Given the description of an element on the screen output the (x, y) to click on. 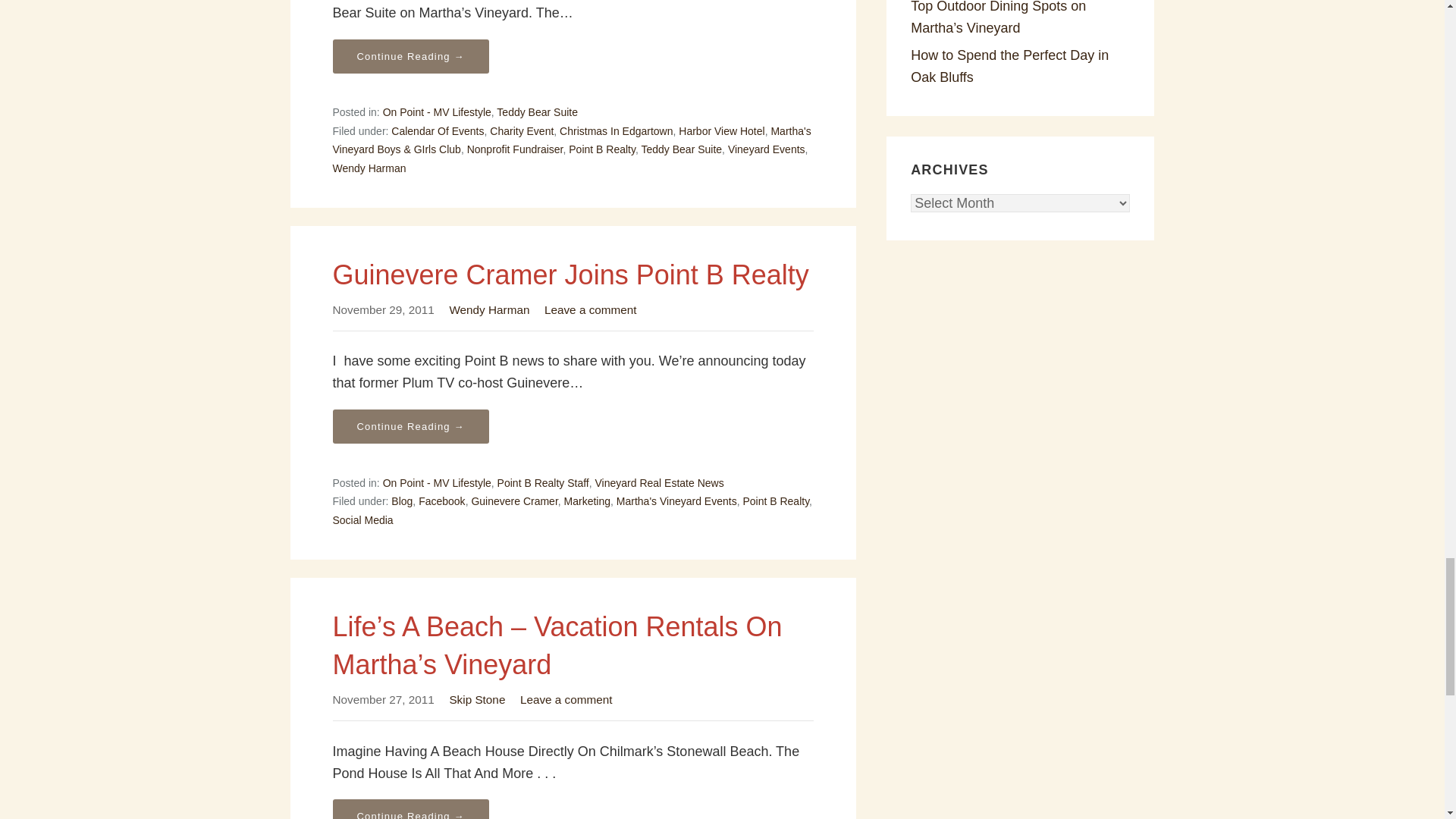
Posts by Skip Stone (476, 698)
Posts by Wendy Harman (488, 309)
